Given the description of an element on the screen output the (x, y) to click on. 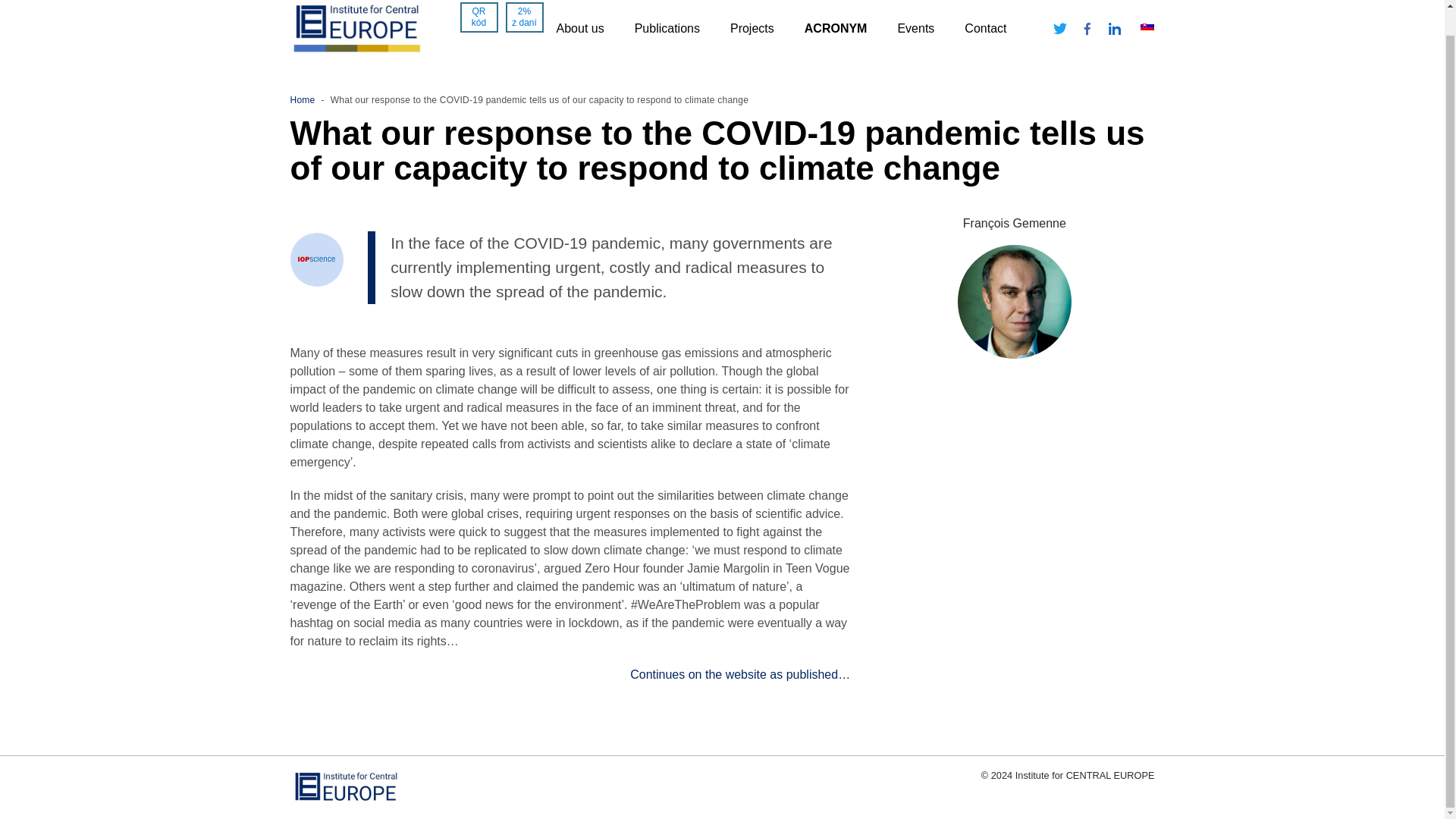
About us (580, 28)
Home (301, 100)
Continues on the website as publishe (730, 674)
Events (915, 28)
Contact (984, 28)
ACRONYM (836, 28)
Projects (752, 28)
Publications (667, 28)
